Given the description of an element on the screen output the (x, y) to click on. 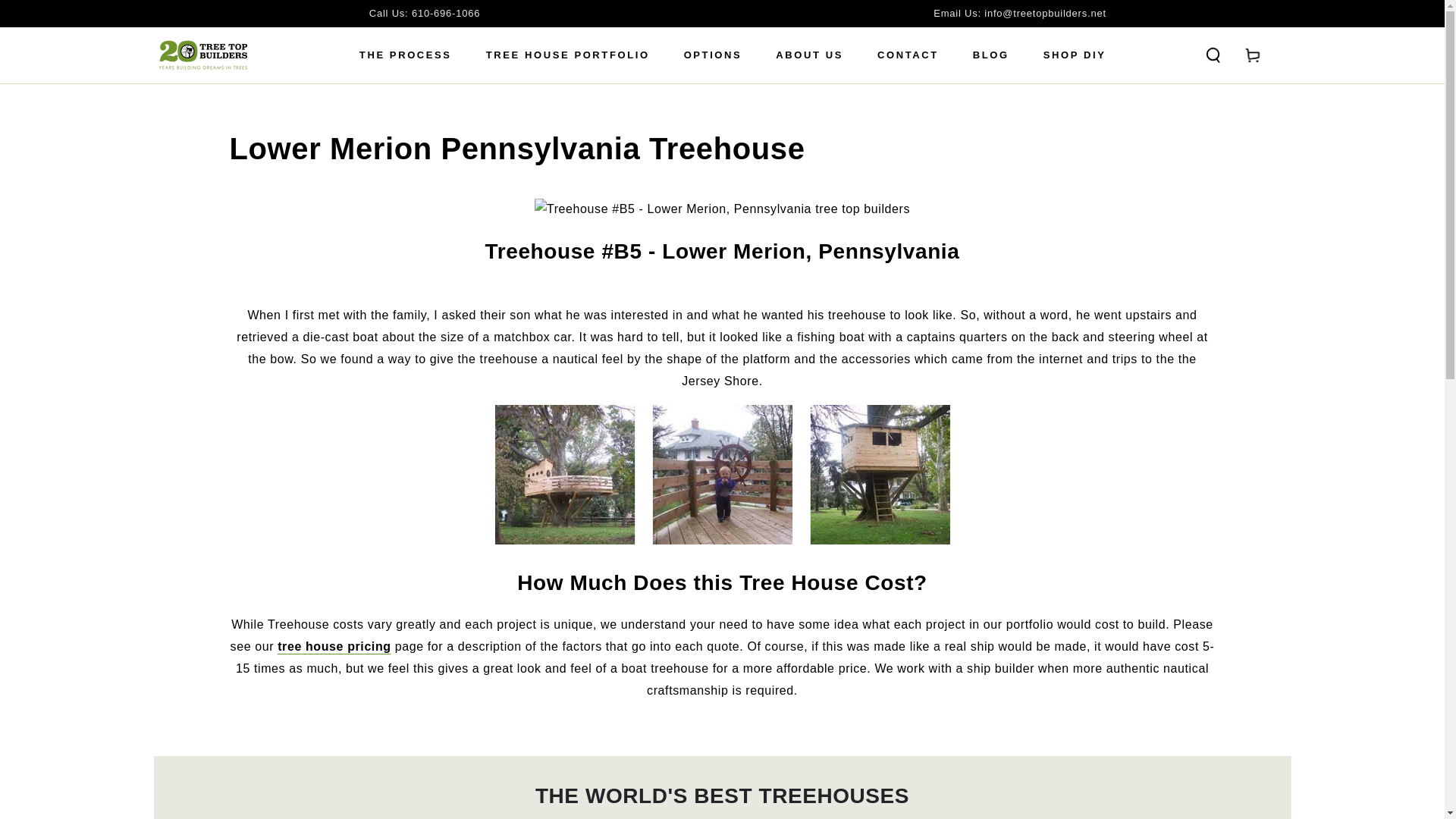
tree house pricing (334, 646)
SKIP TO CONTENT (67, 14)
